Given the description of an element on the screen output the (x, y) to click on. 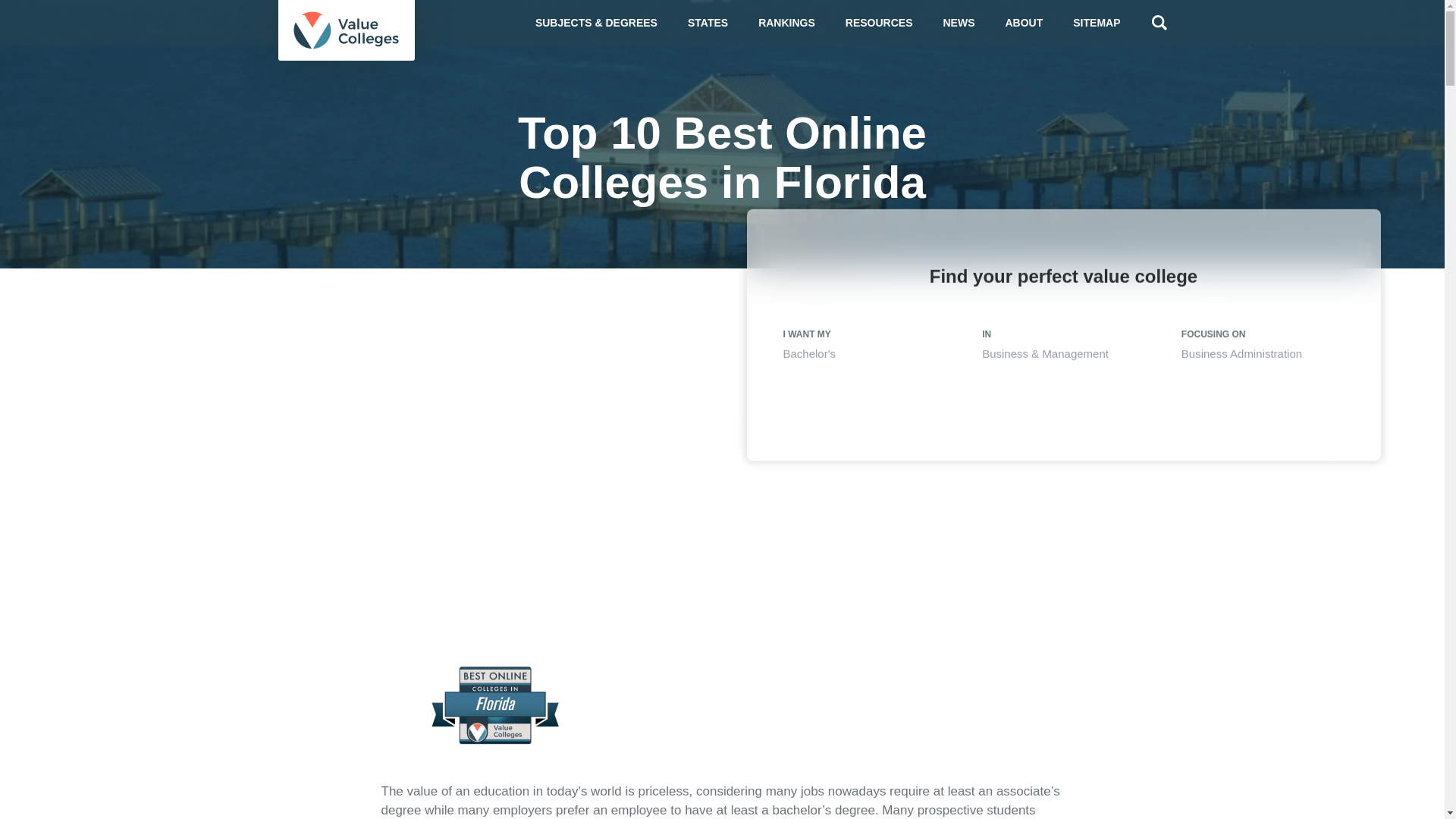
STATES (707, 22)
